Given the description of an element on the screen output the (x, y) to click on. 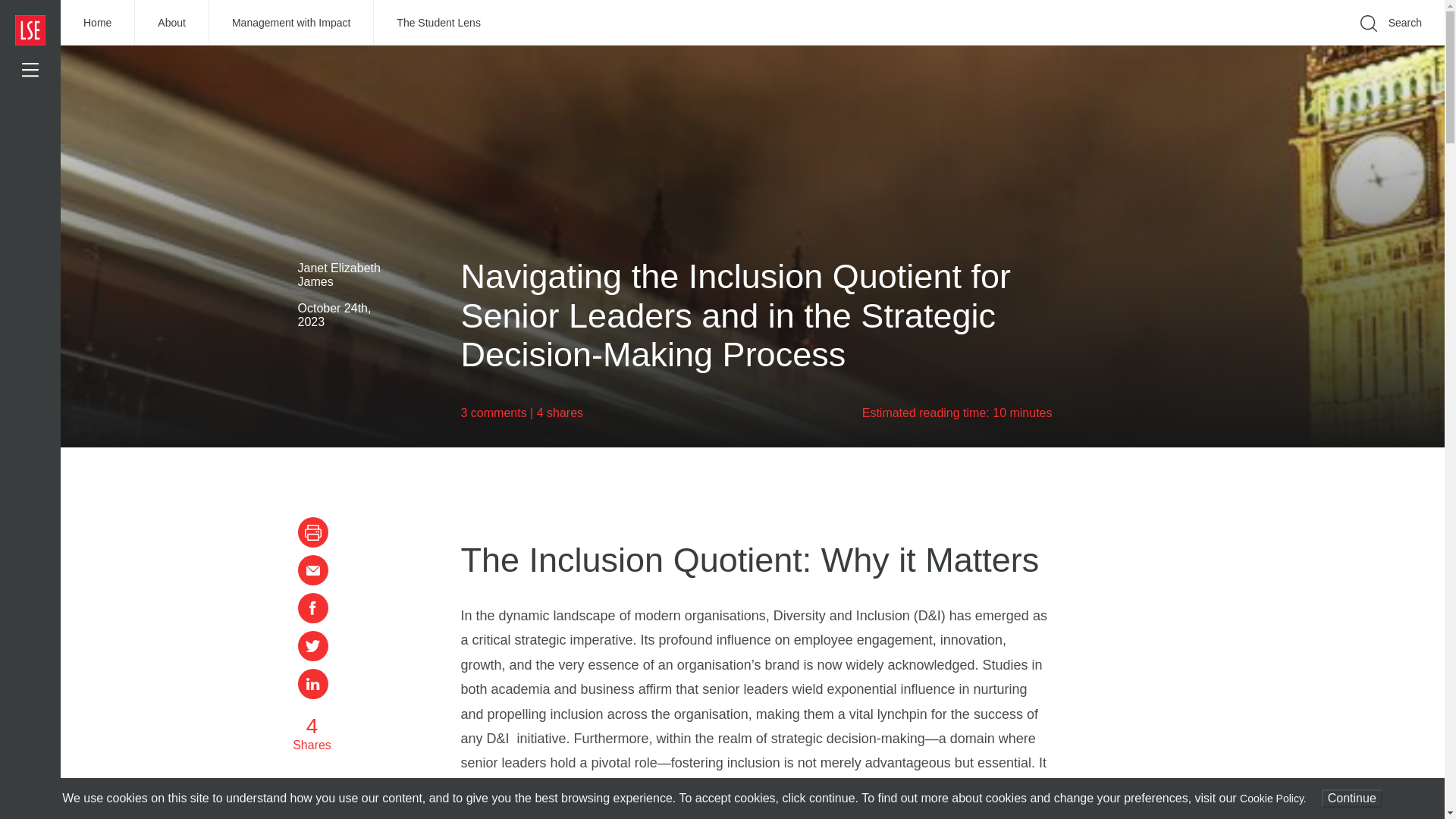
Home (98, 22)
3 comments (494, 412)
Management with Impact (291, 22)
The Student Lens (438, 22)
Go (1190, 44)
About (172, 22)
